Given the description of an element on the screen output the (x, y) to click on. 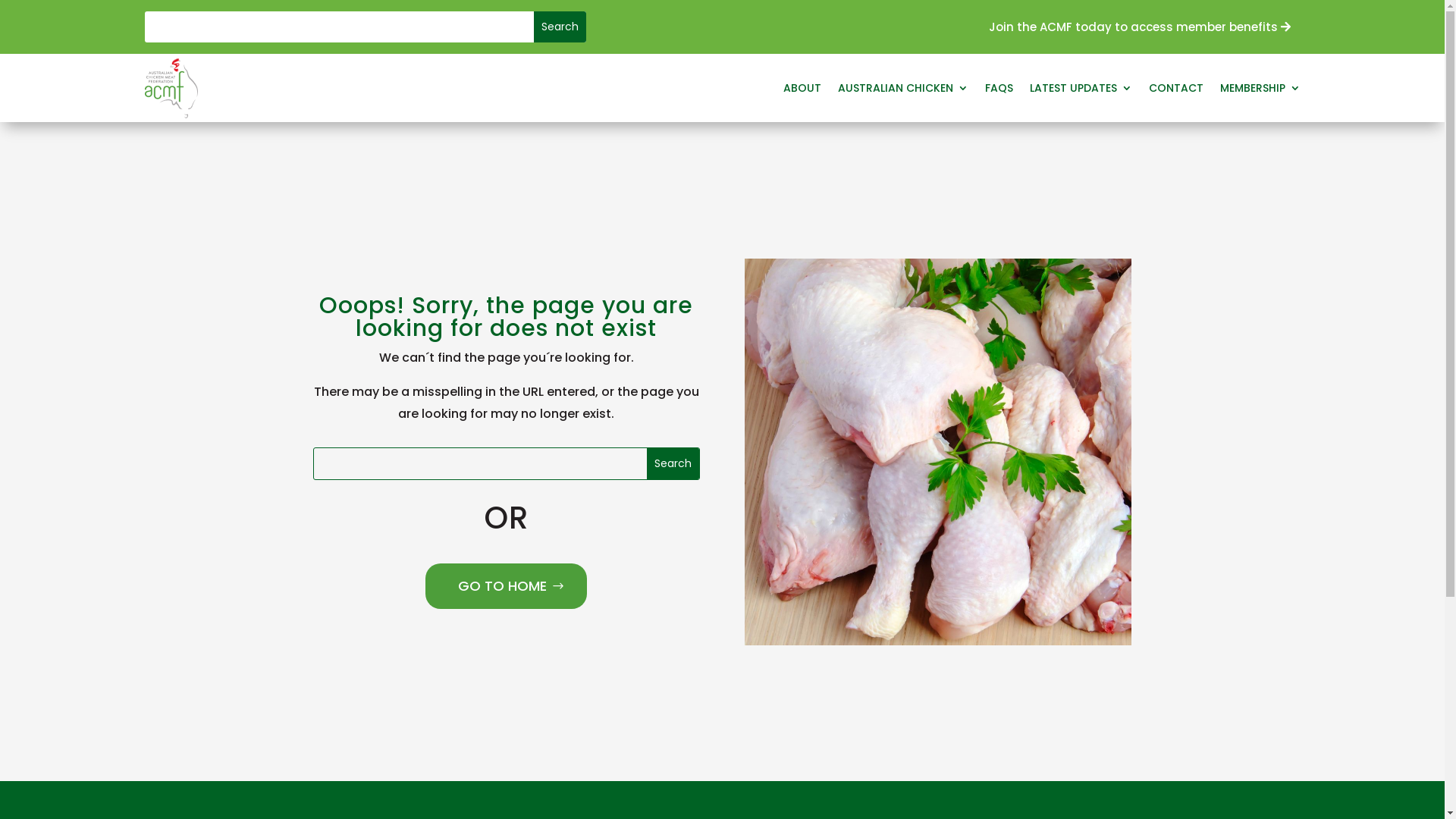
LATEST UPDATES Element type: text (1080, 87)
AUSTRALIAN CHICKEN Element type: text (902, 87)
CONTACT Element type: text (1175, 87)
GO TO HOME Element type: text (505, 586)
Jess lyrical dancer Element type: hover (937, 451)
FAQS Element type: text (998, 87)
Join the ACMF today to access member benefits Element type: text (1140, 26)
Search Element type: text (672, 463)
MEMBERSHIP Element type: text (1259, 87)
ABOUT Element type: text (801, 87)
Search Element type: text (559, 26)
